Given the description of an element on the screen output the (x, y) to click on. 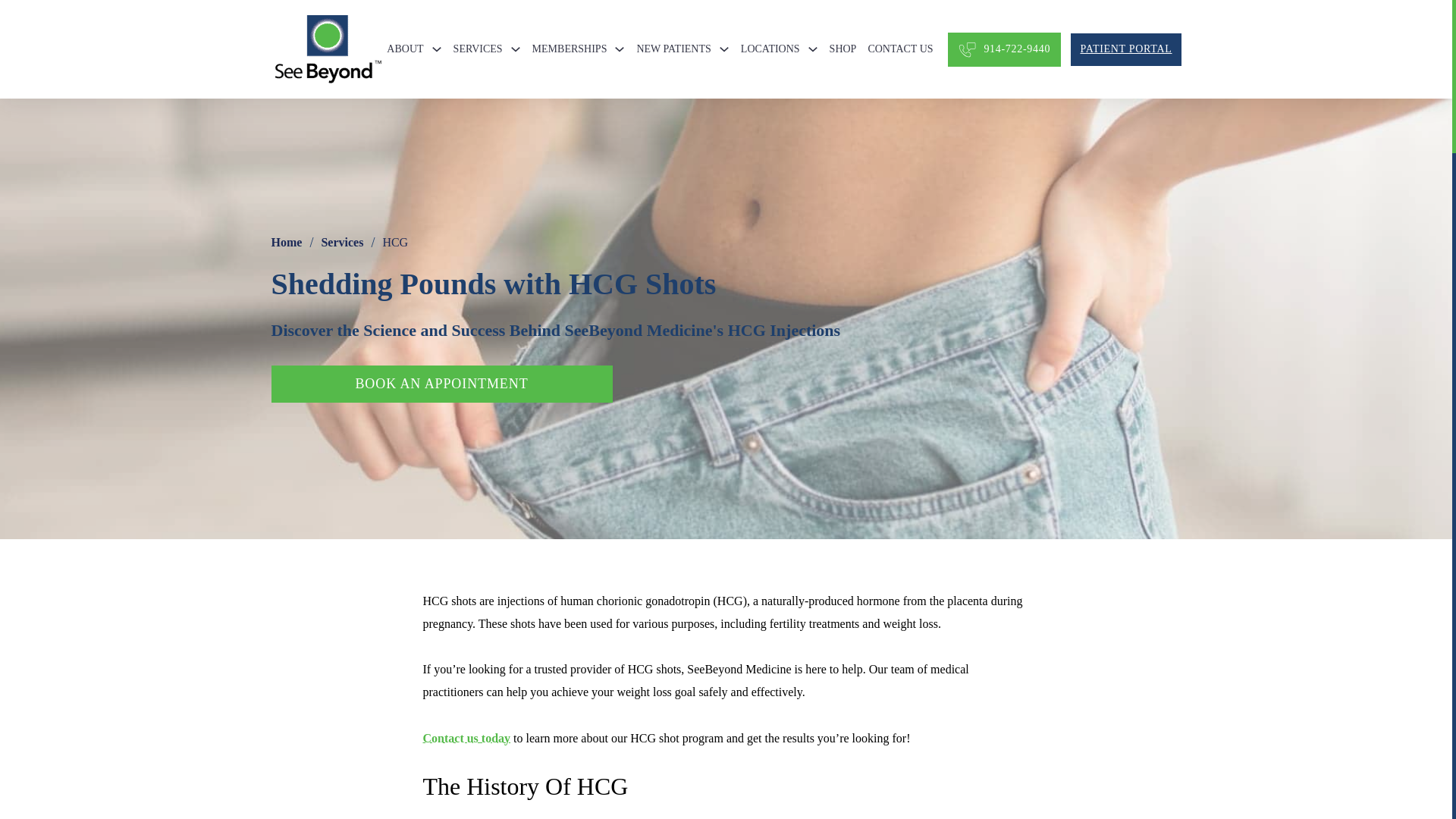
SERVICES (477, 49)
ABOUT (405, 49)
